Given the description of an element on the screen output the (x, y) to click on. 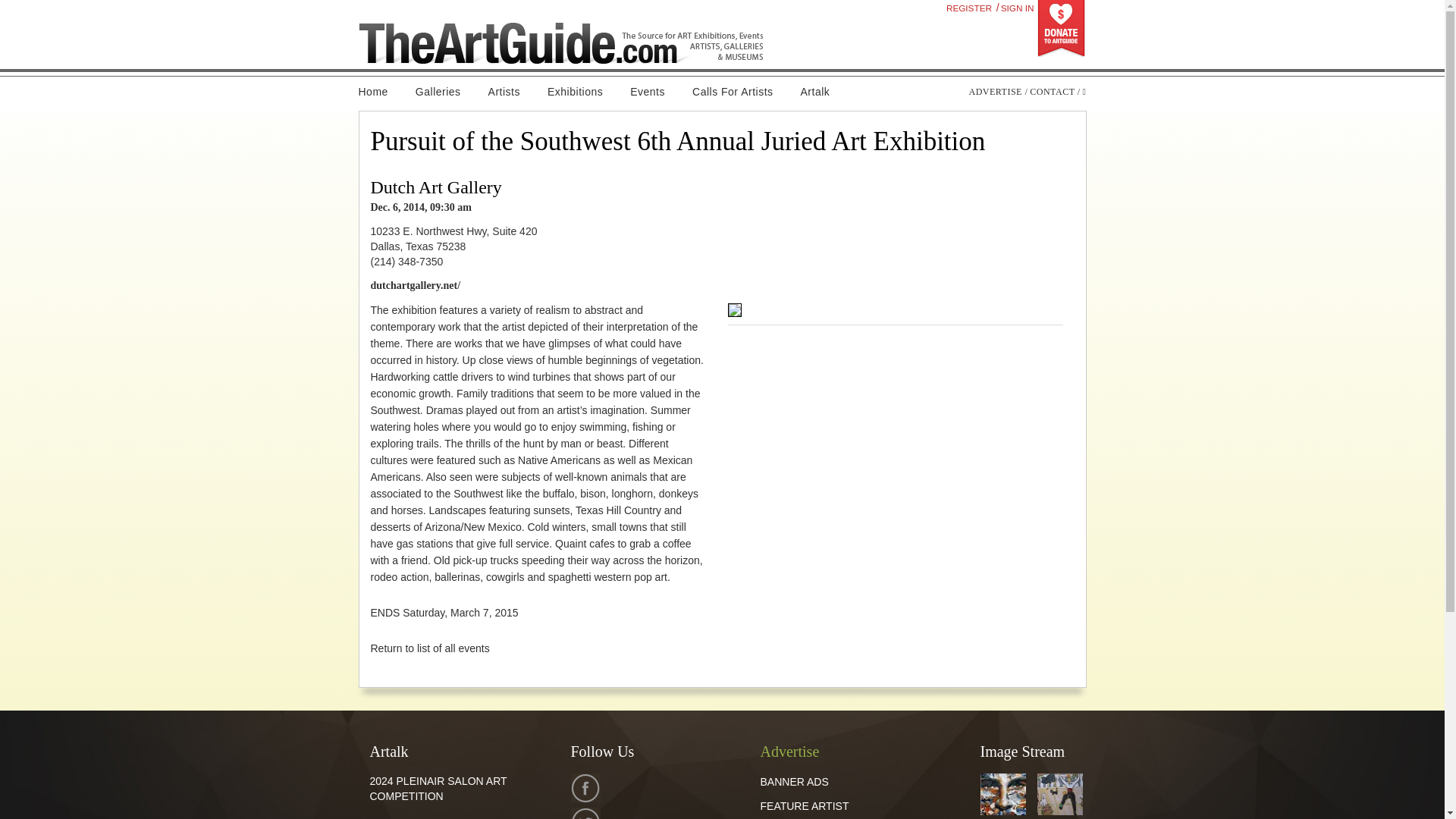
Return to list of all events (429, 648)
ABSTRACT IDEAS THROUGH CONCRETE IMAGES (443, 817)
Exhibitions (574, 91)
BANNER ADS (794, 781)
SIGN IN (1016, 8)
Calls For Artists (732, 91)
Artalk (815, 91)
2024 PLEINAIR SALON ART COMPETITION (437, 788)
REGISTER (968, 8)
FEATURE ARTIST (804, 806)
Home (379, 91)
Galleries (437, 91)
Artists (504, 91)
Events (646, 91)
